Given the description of an element on the screen output the (x, y) to click on. 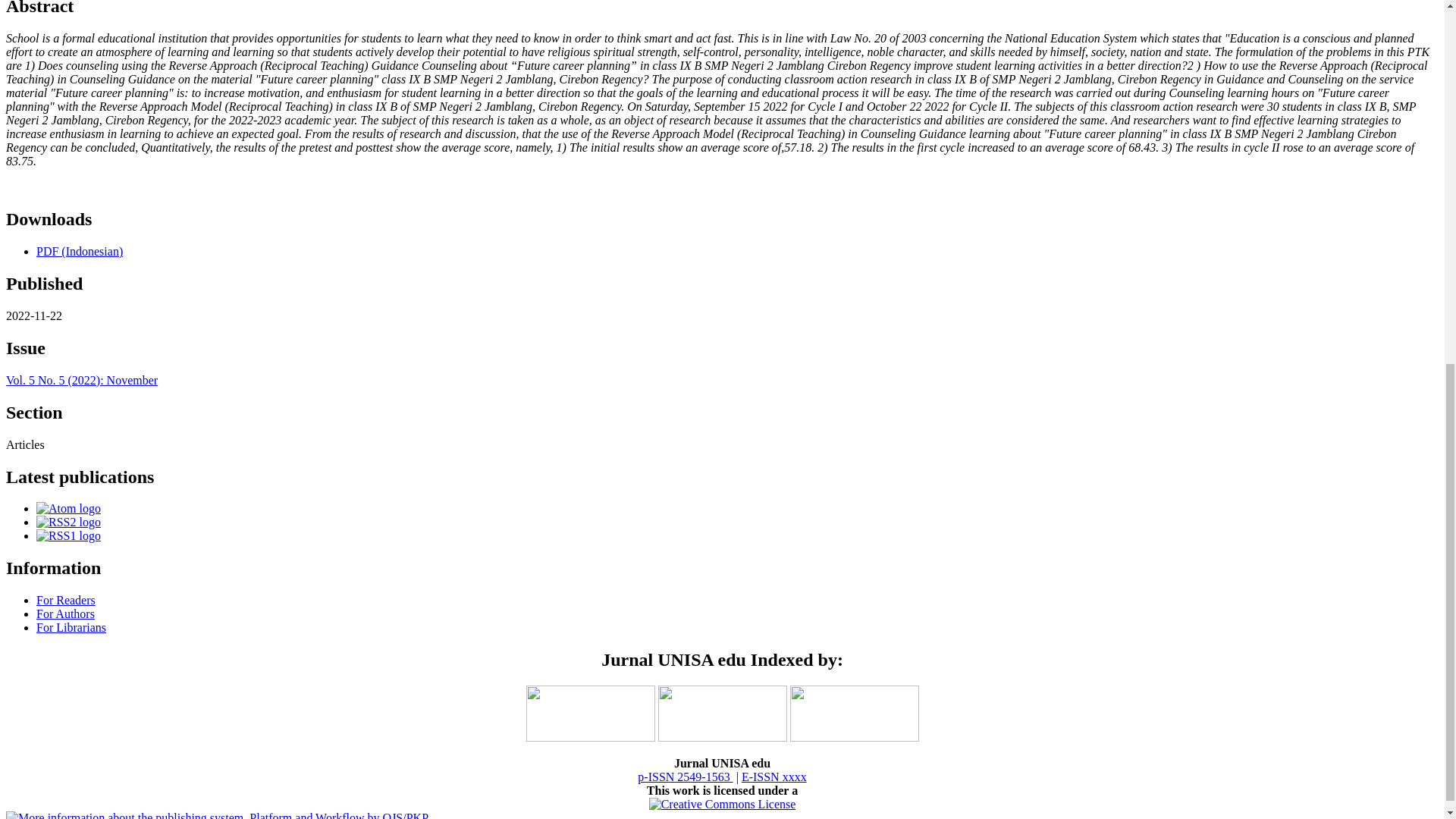
xxxx (684, 776)
Indexing Neliti (722, 737)
p-ISSN 2549-1563 (684, 776)
For Authors (65, 613)
Indexing Copernicus (854, 737)
E-ISSN xxxx (773, 776)
For Librarians (71, 626)
For Readers (66, 599)
